Given the description of an element on the screen output the (x, y) to click on. 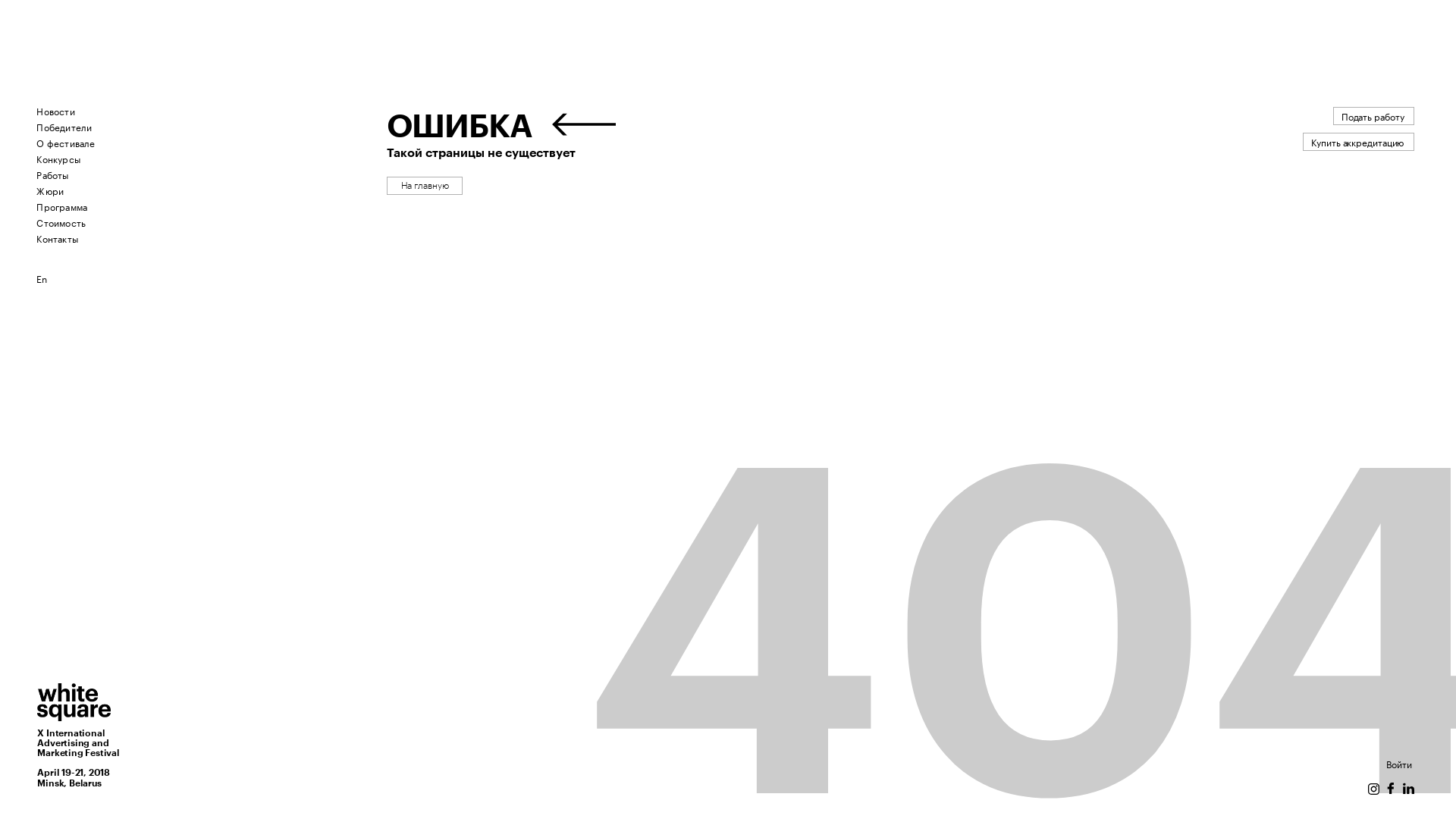
En Element type: text (41, 277)
